Given the description of an element on the screen output the (x, y) to click on. 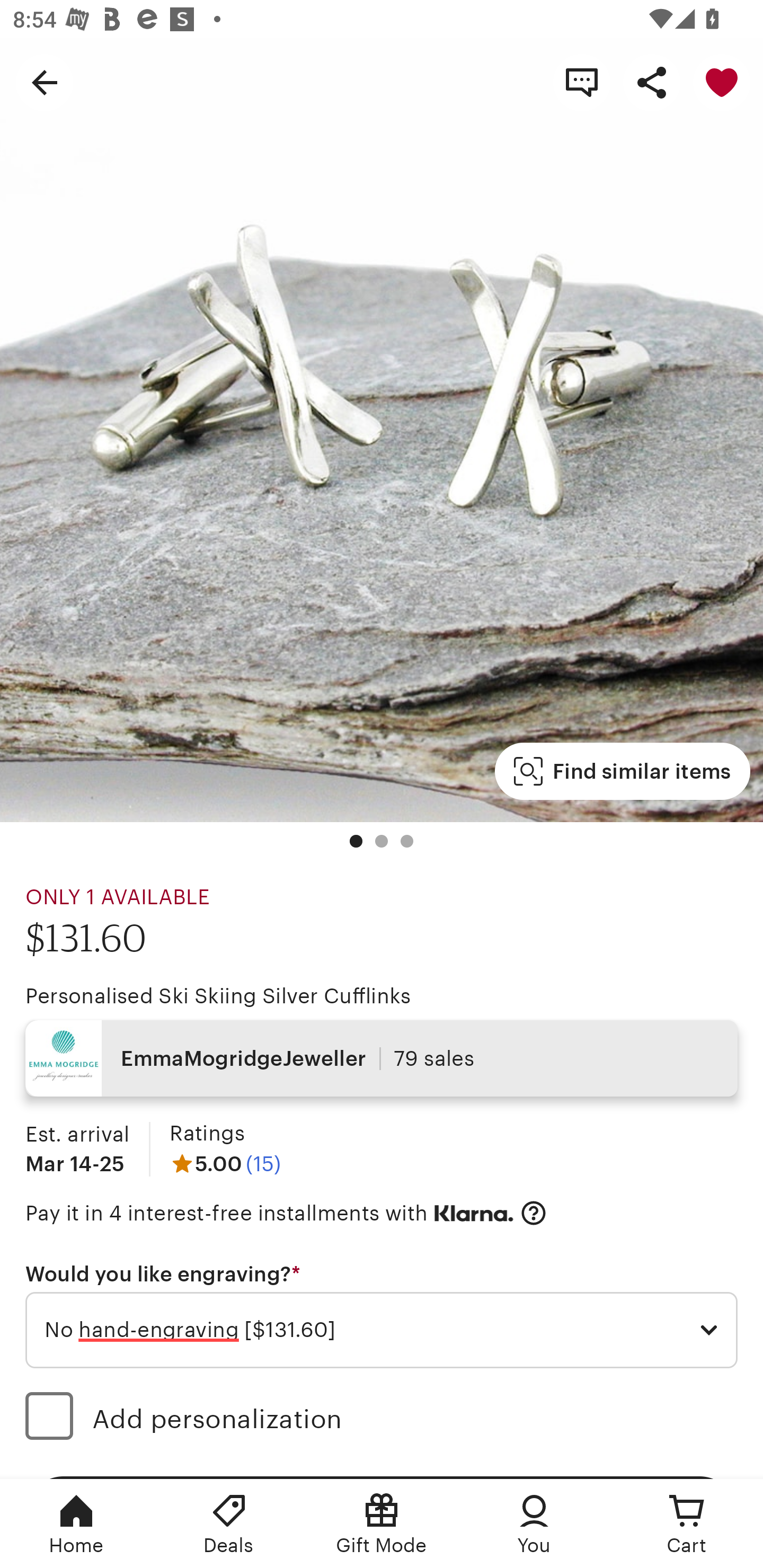
Navigate up (44, 81)
Contact shop (581, 81)
Share (651, 81)
Find similar items (622, 771)
Personalised Ski Skiing Silver Cufflinks (218, 996)
EmmaMogridgeJeweller 79 sales (381, 1058)
Ratings (206, 1133)
5.00 (15) (225, 1163)
No hand-engraving [$131.60] (381, 1330)
Add personalization (optional) Add personalization (381, 1418)
Deals (228, 1523)
Gift Mode (381, 1523)
You (533, 1523)
Cart (686, 1523)
